Given the description of an element on the screen output the (x, y) to click on. 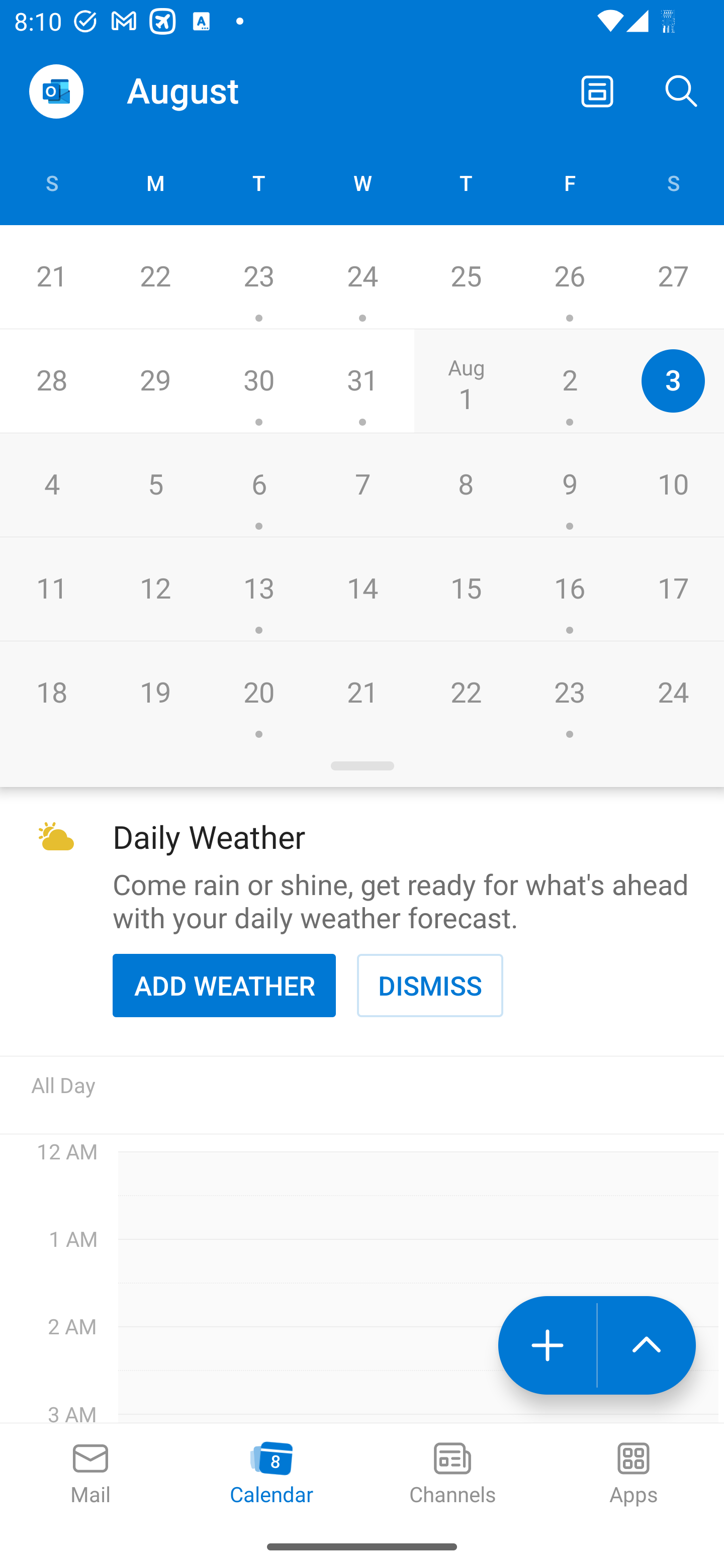
August August 2024, day picker (203, 90)
Switch away from Day view (597, 90)
Search, ,  (681, 90)
Open Navigation Drawer (55, 91)
21 Sunday, July 21 (51, 277)
22 Monday, July 22 (155, 277)
23 Events on Tuesday, July 23 (258, 277)
24 Events on Wednesday, July 24 (362, 277)
25 Thursday, July 25 (465, 277)
26 Events on Friday, July 26 (569, 277)
27 Saturday, July 27 (672, 277)
28 Sunday, July 28 (51, 380)
29 Monday, July 29 (155, 380)
30 Events on Tuesday, July 30 (258, 380)
31 Events on Wednesday, July 31 (362, 380)
Aug
1 Events on Thursday, August 1 (465, 380)
2 Events on Friday, August 2 (569, 380)
3 Saturday, August 3, Selected (672, 380)
4 Sunday, August 4 (51, 484)
5 Monday, August 5 (155, 484)
